Given the description of an element on the screen output the (x, y) to click on. 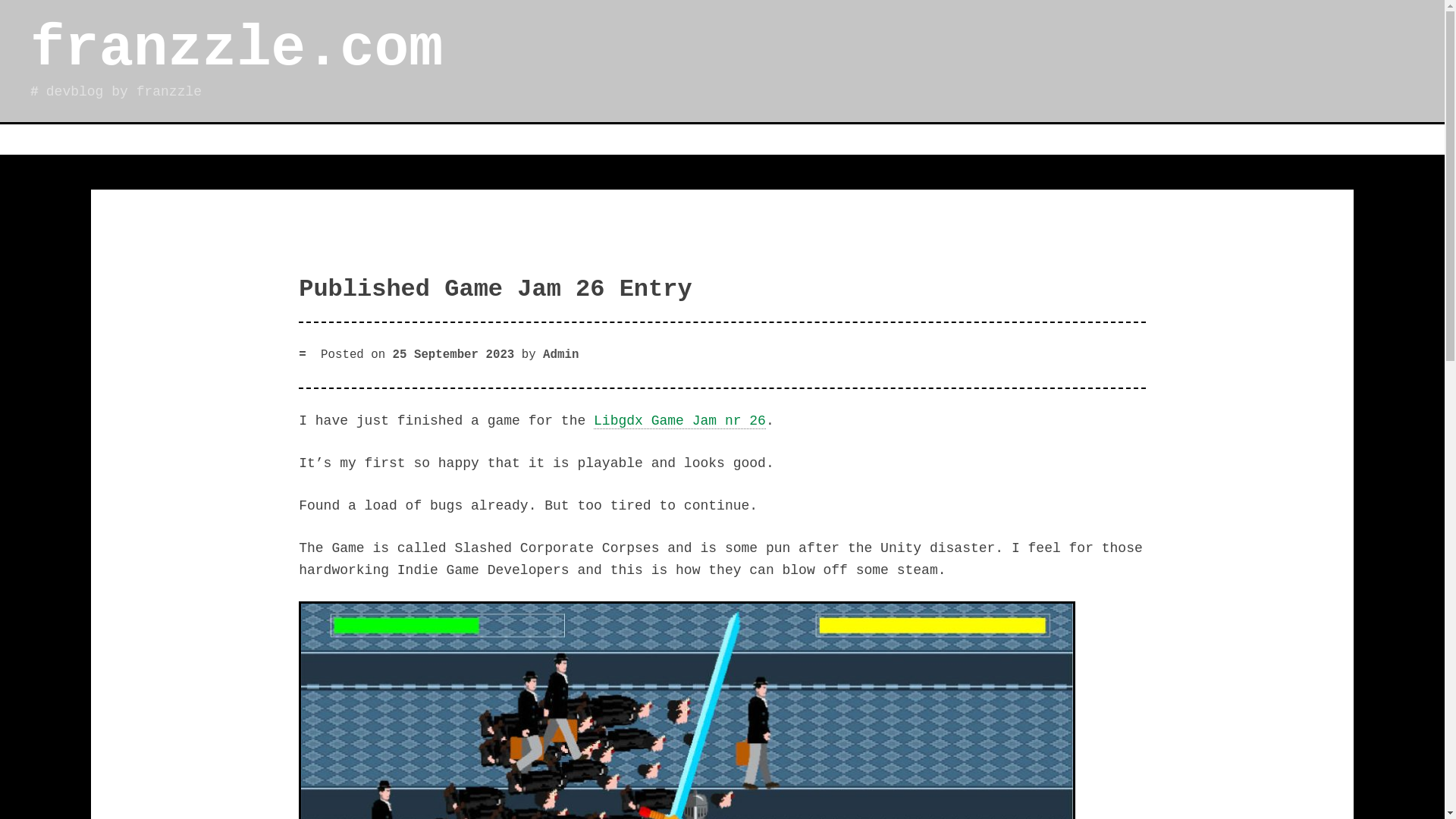
franzzle.com (236, 48)
25 September 2023 (454, 354)
Libgdx Game Jam nr 26 (679, 421)
Admin (560, 354)
